Given the description of an element on the screen output the (x, y) to click on. 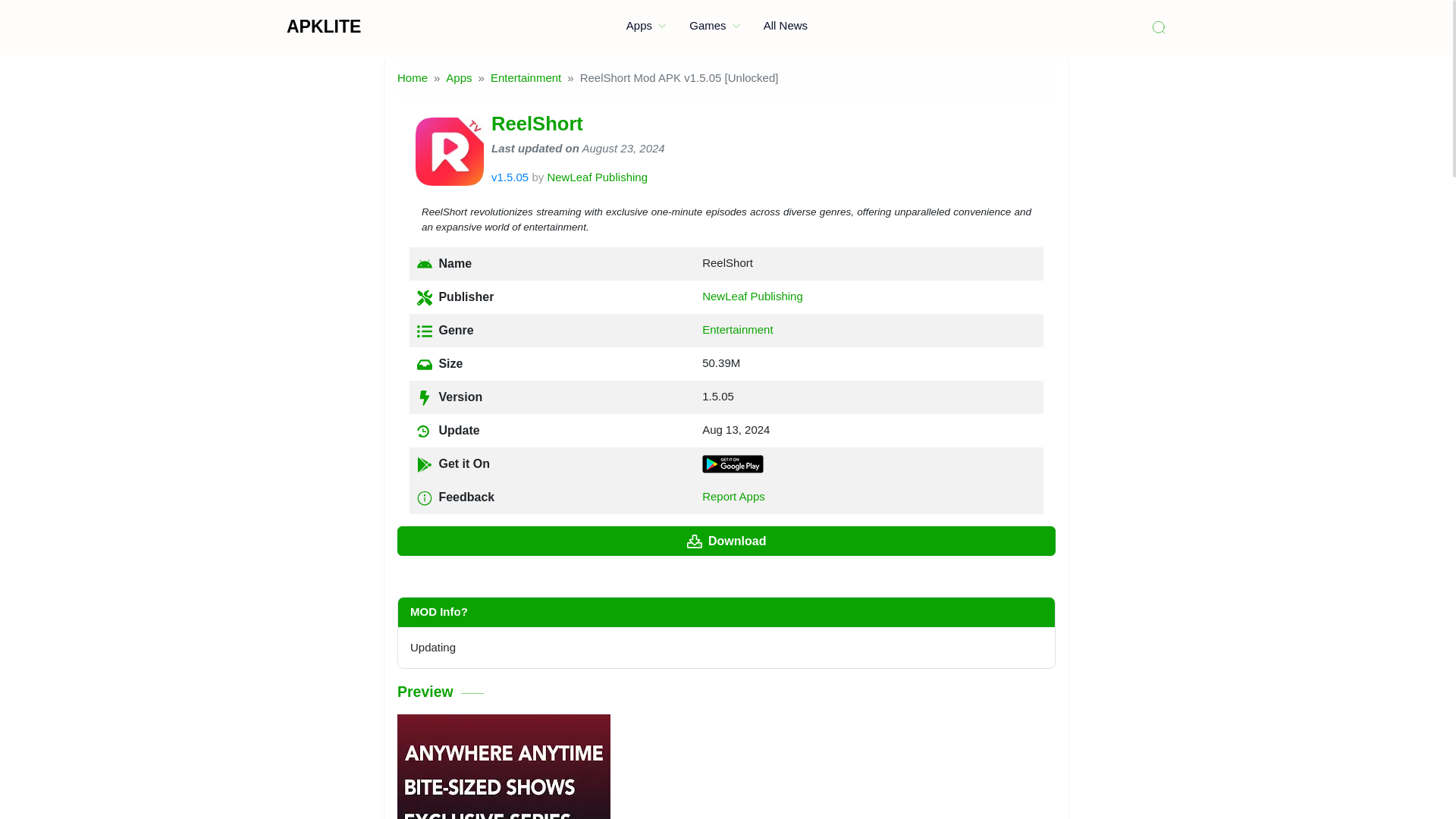
APKLITE (323, 26)
Gallery 0 (503, 766)
Developer by NewLeaf Publishing (597, 176)
Developer by NewLeaf Publishing (752, 295)
